Given the description of an element on the screen output the (x, y) to click on. 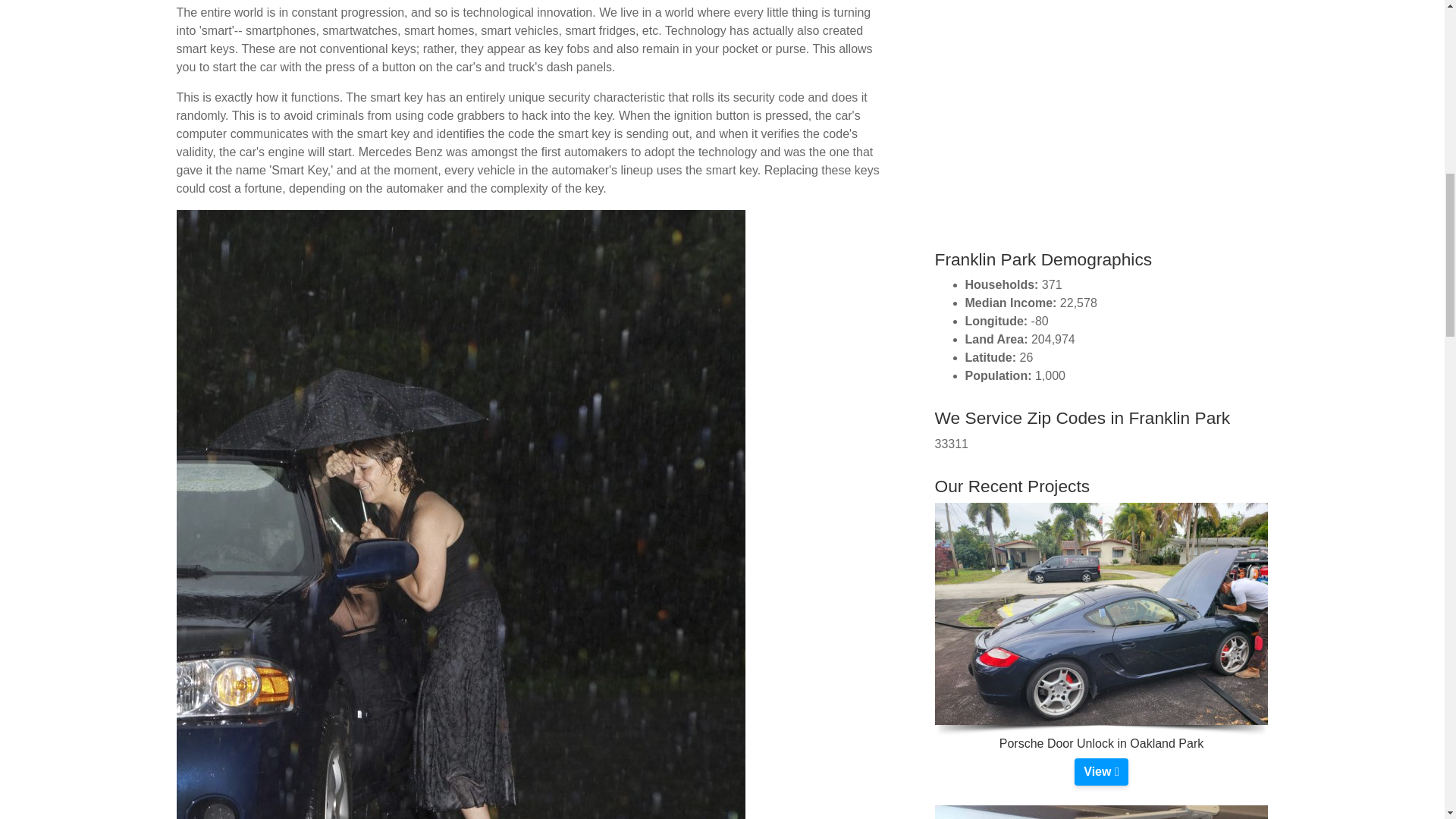
View (1100, 771)
Porsche Door Unlock in Oakland Park (1100, 771)
